Given the description of an element on the screen output the (x, y) to click on. 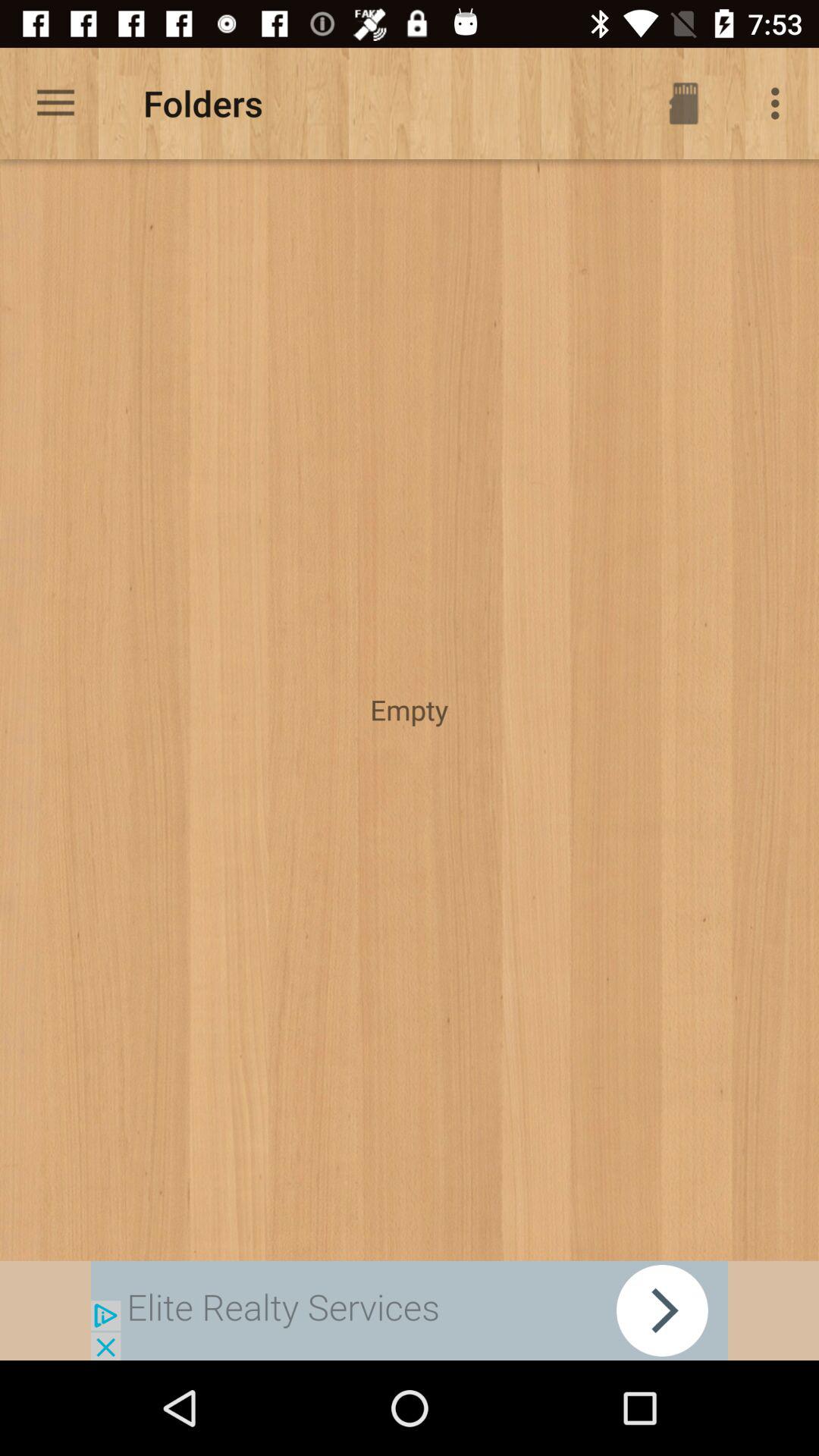
forward (409, 1310)
